Given the description of an element on the screen output the (x, y) to click on. 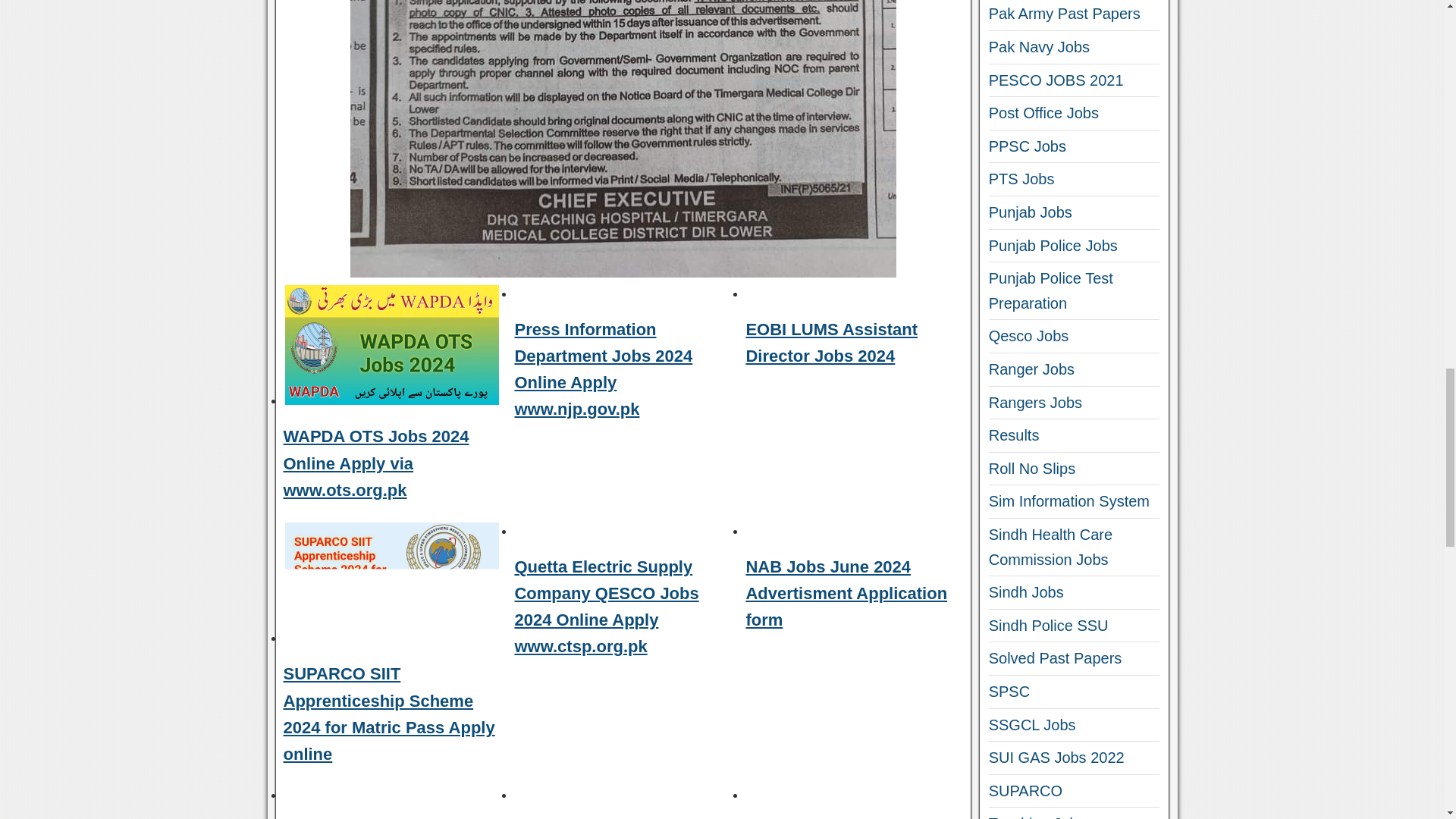
WAPDA OTS Jobs 2024 Online Apply via www.ots.org.pk (375, 462)
EOBI LUMS Assistant Director Jobs 2024 (831, 342)
NAB Jobs June 2024 Advertisment Application form (846, 593)
